Given the description of an element on the screen output the (x, y) to click on. 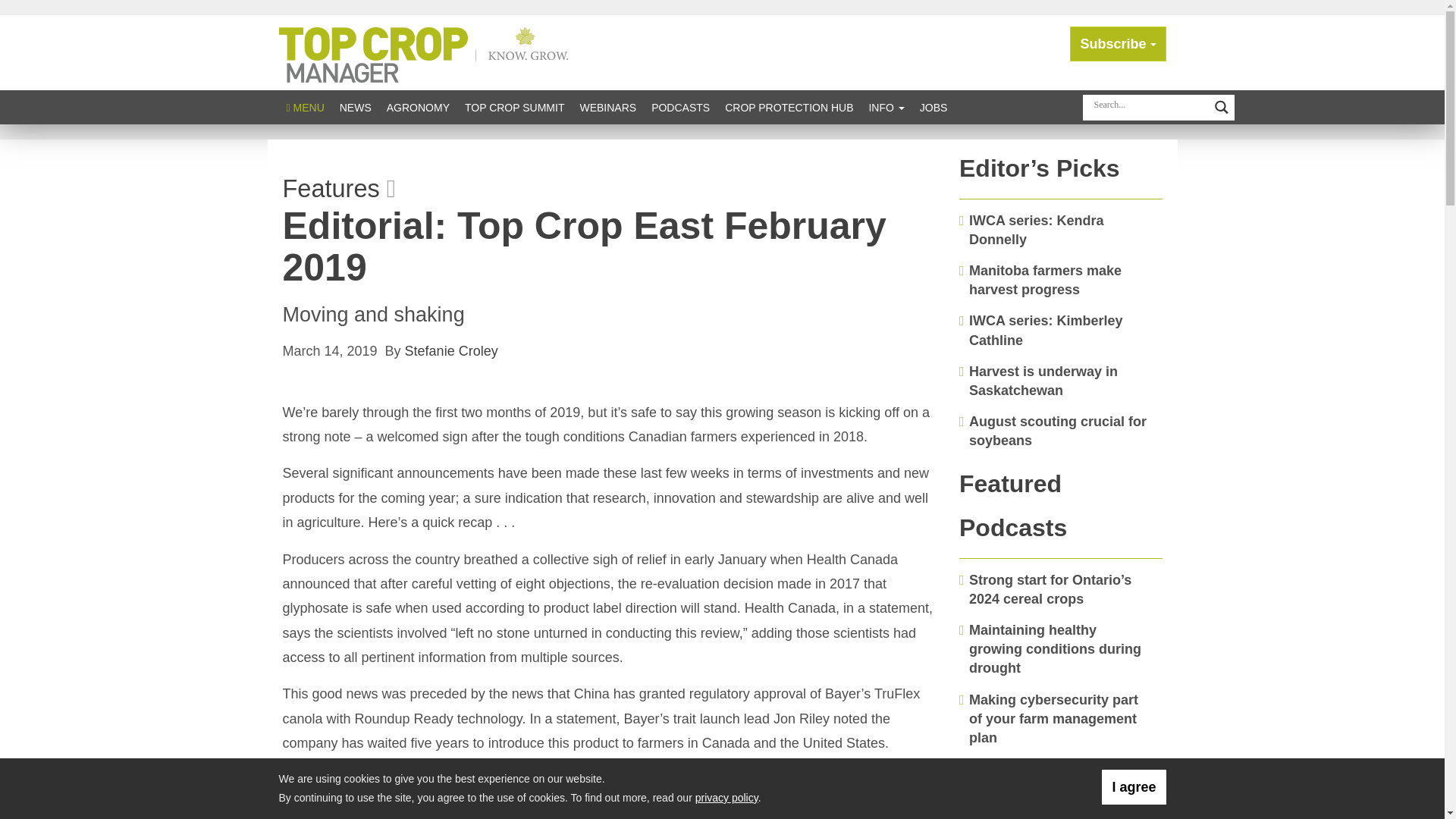
PODCASTS (680, 107)
NEWS (354, 107)
INFO (885, 107)
JOBS (933, 107)
TOP CROP SUMMIT (514, 107)
WEBINARS (607, 107)
Click to show site navigation (305, 107)
Subscribe (1118, 43)
CROP PROTECTION HUB (788, 107)
MENU (305, 107)
